Given the description of an element on the screen output the (x, y) to click on. 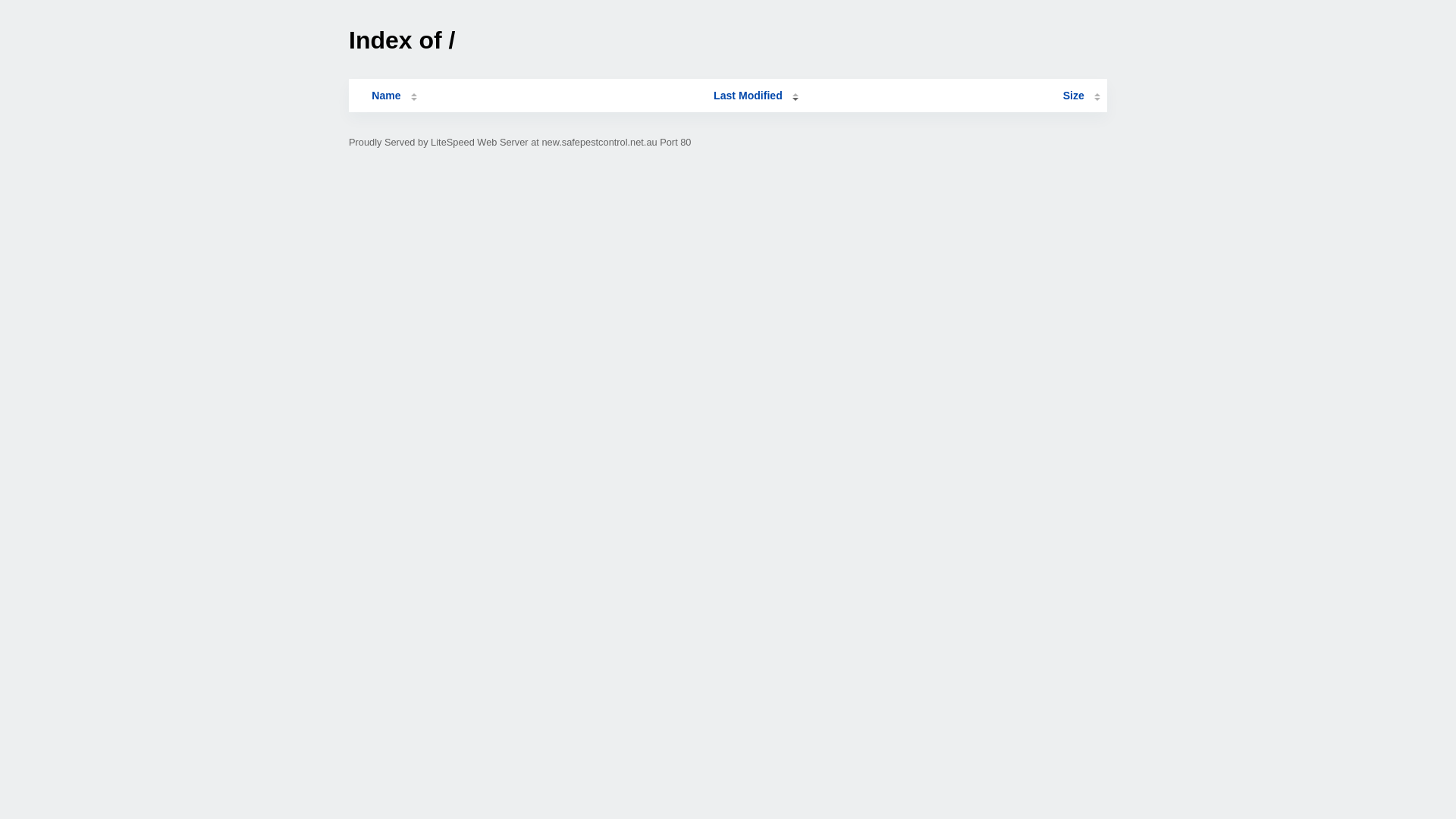
Size Element type: text (1081, 95)
Last Modified Element type: text (755, 95)
Name Element type: text (385, 95)
